Given the description of an element on the screen output the (x, y) to click on. 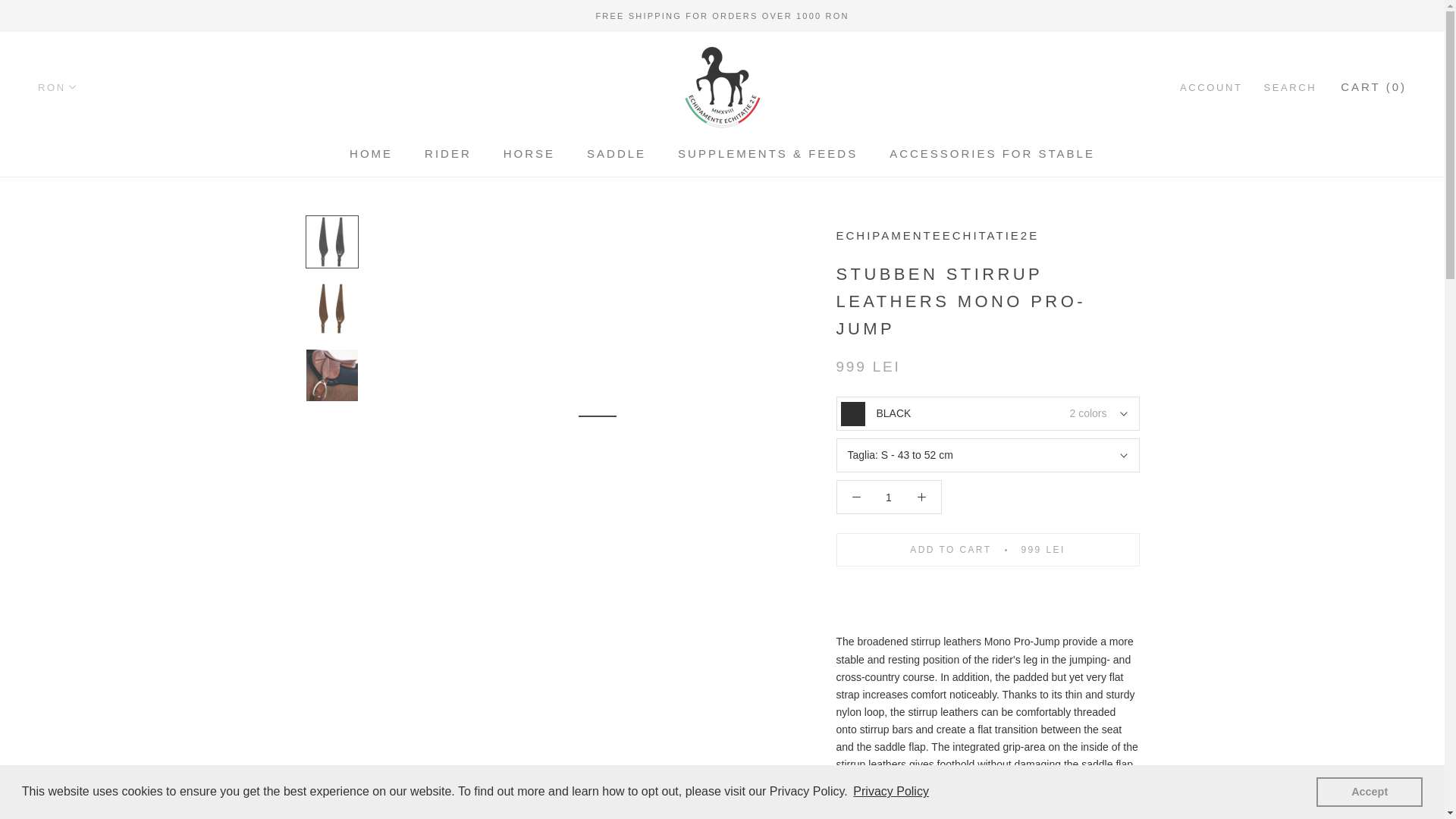
Accept (1369, 791)
Privacy Policy (890, 791)
1 (888, 497)
